Given the description of an element on the screen output the (x, y) to click on. 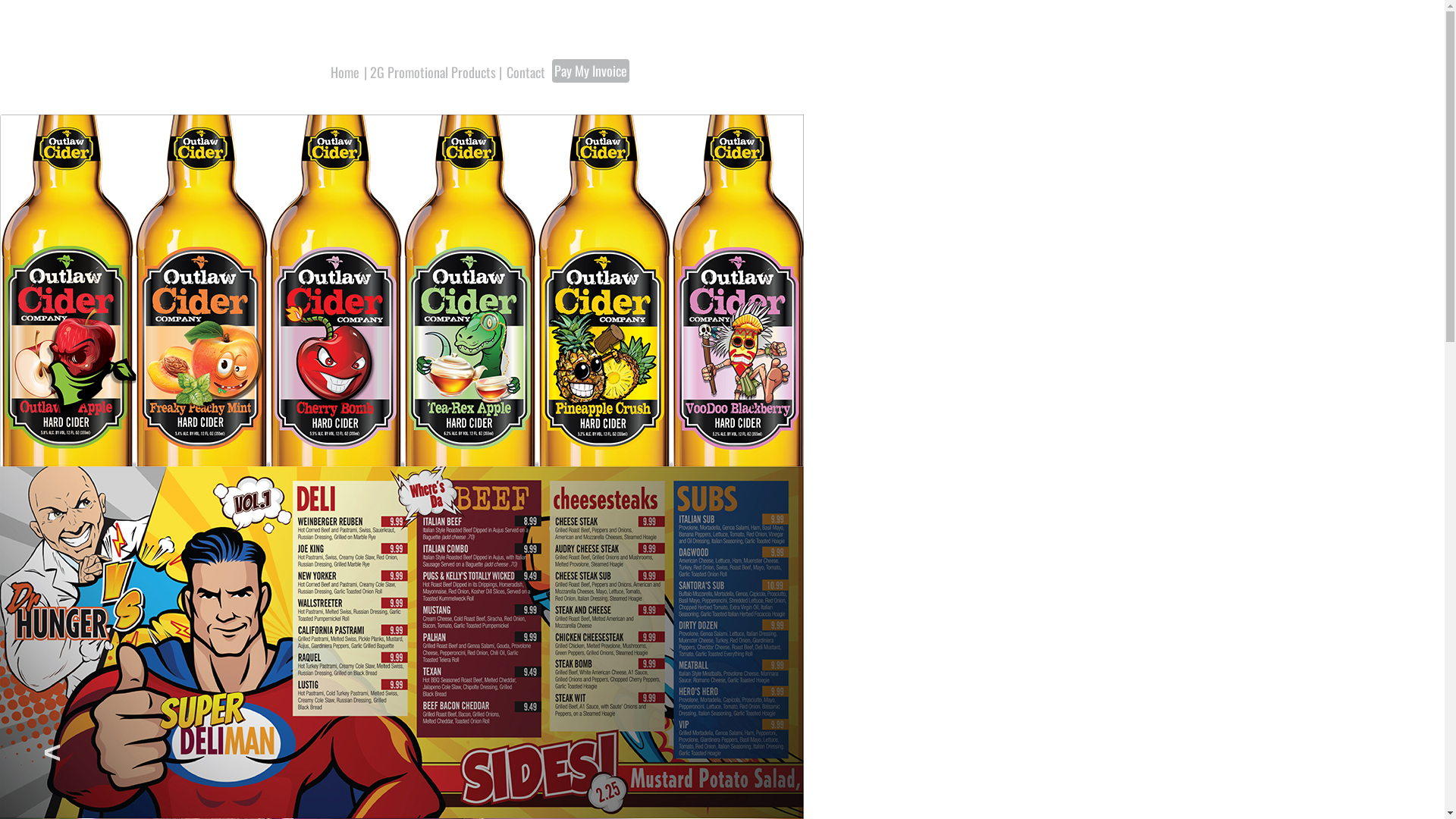
Pay My Invoice Element type: text (590, 70)
| 2G Promotional Products | Element type: text (431, 72)
Home Element type: text (343, 72)
Contact Element type: text (524, 72)
